Given the description of an element on the screen output the (x, y) to click on. 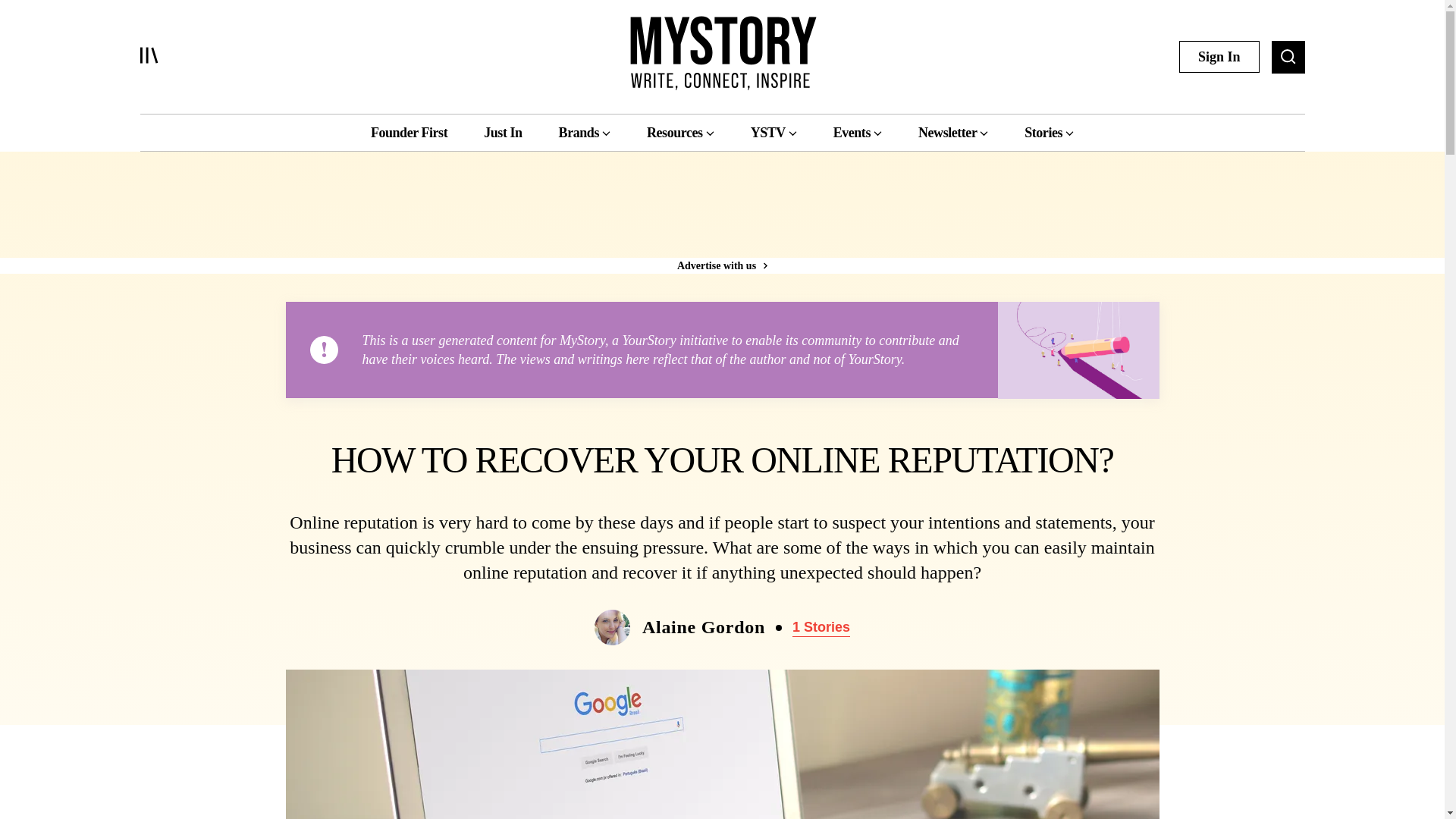
Alaine Gordon (703, 627)
1 Stories (821, 628)
3rd party ad content (721, 219)
Just In (502, 132)
Founder First (408, 132)
